Given the description of an element on the screen output the (x, y) to click on. 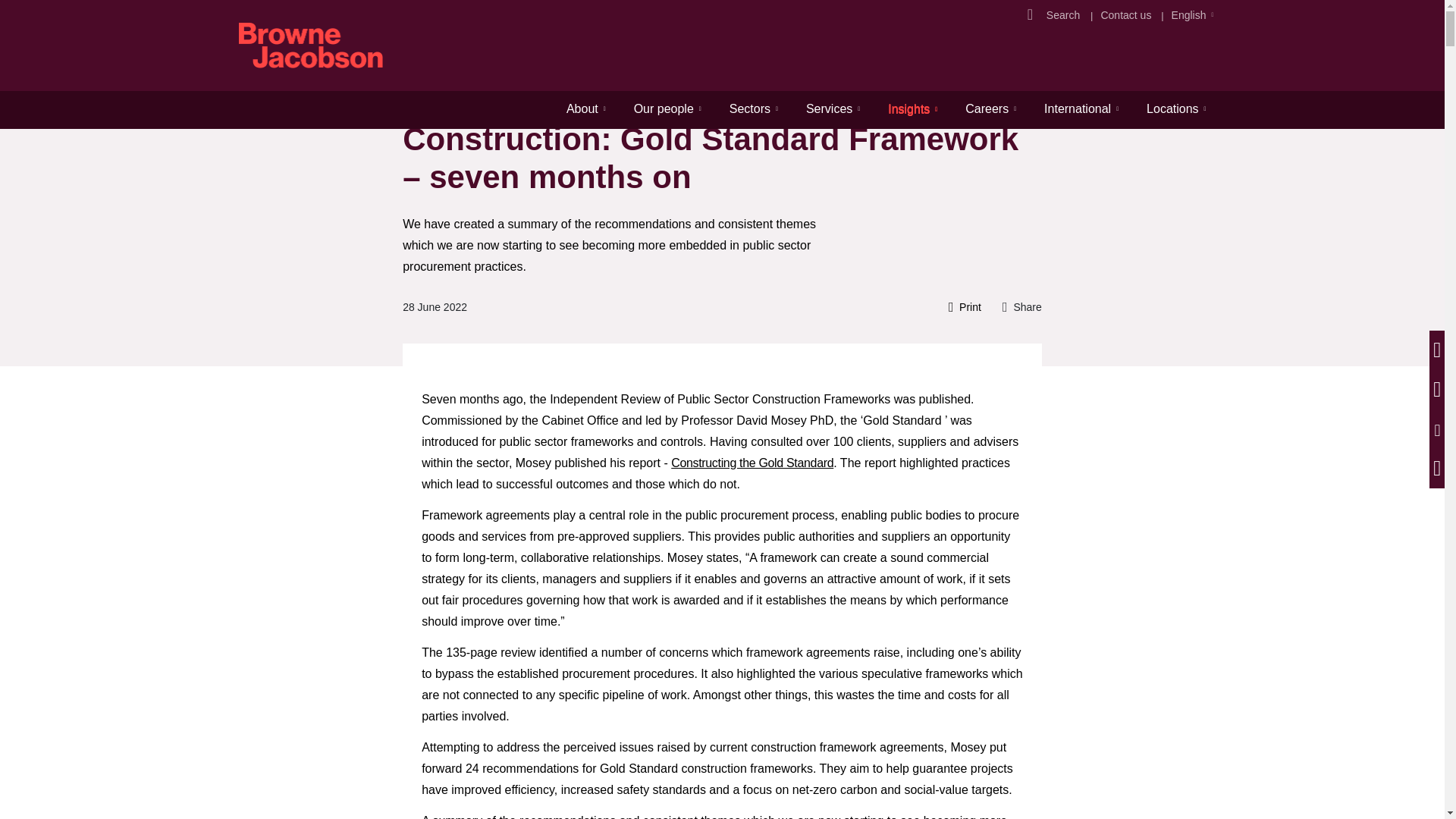
About (585, 108)
Contact us (1125, 15)
English (1189, 15)
Search (1064, 15)
